Given the description of an element on the screen output the (x, y) to click on. 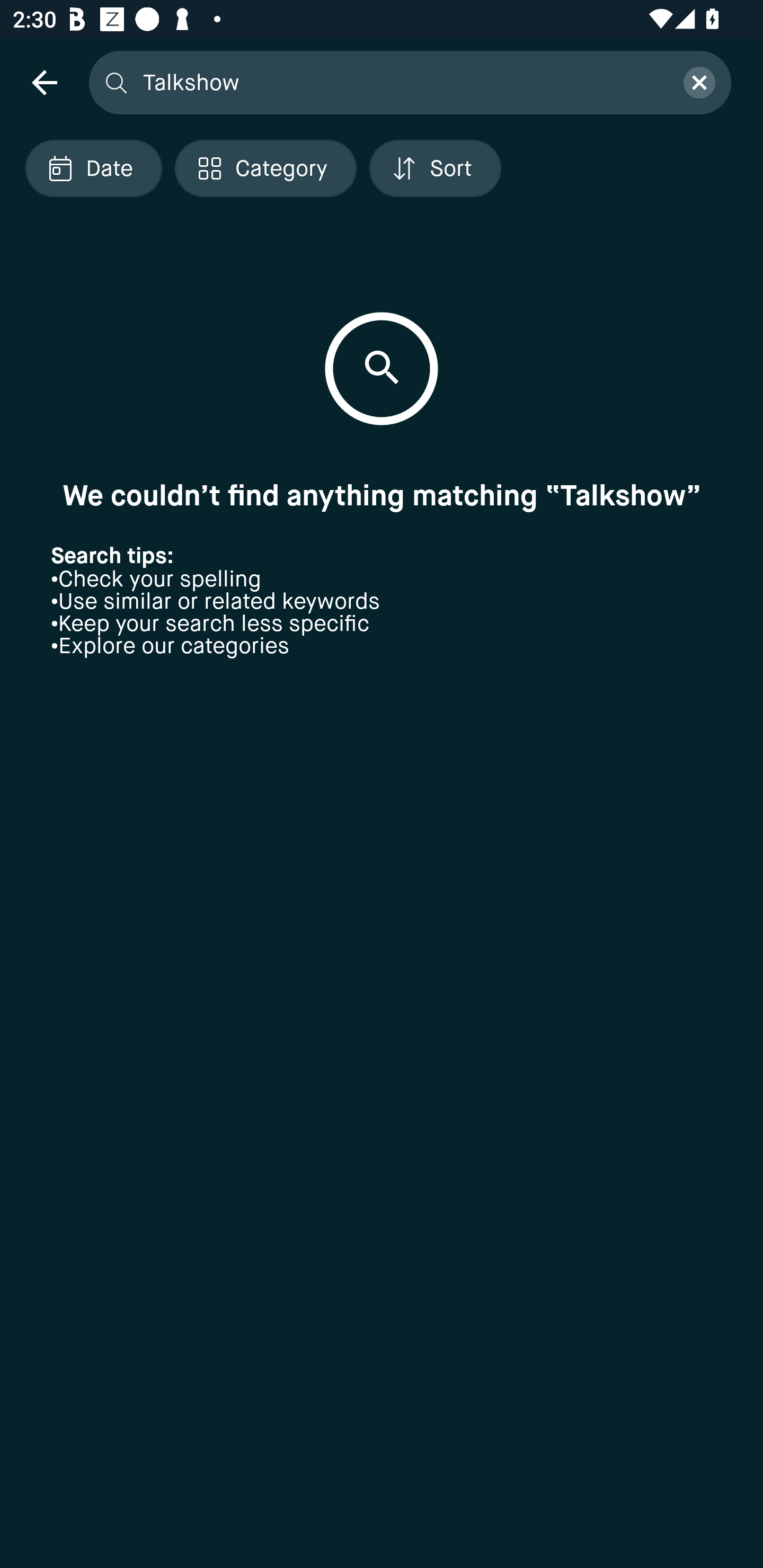
navigation icon (44, 81)
Talkshow (402, 81)
Localized description Date (93, 168)
Localized description Category (265, 168)
Localized description Sort (435, 168)
We couldn’t find anything matching “Talkshow” (381, 495)
